Given the description of an element on the screen output the (x, y) to click on. 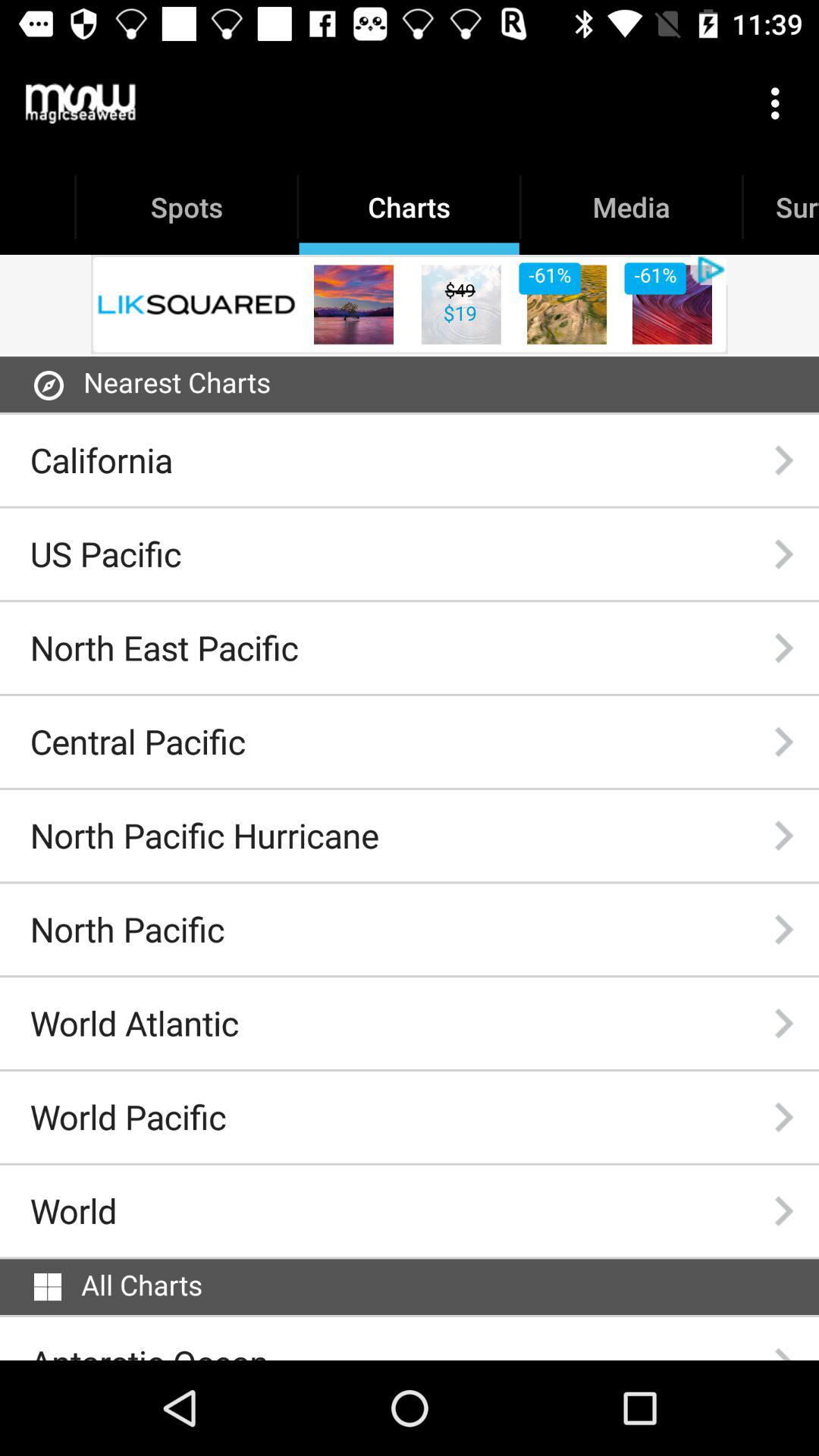
turn off item above the nearest charts item (409, 304)
